Given the description of an element on the screen output the (x, y) to click on. 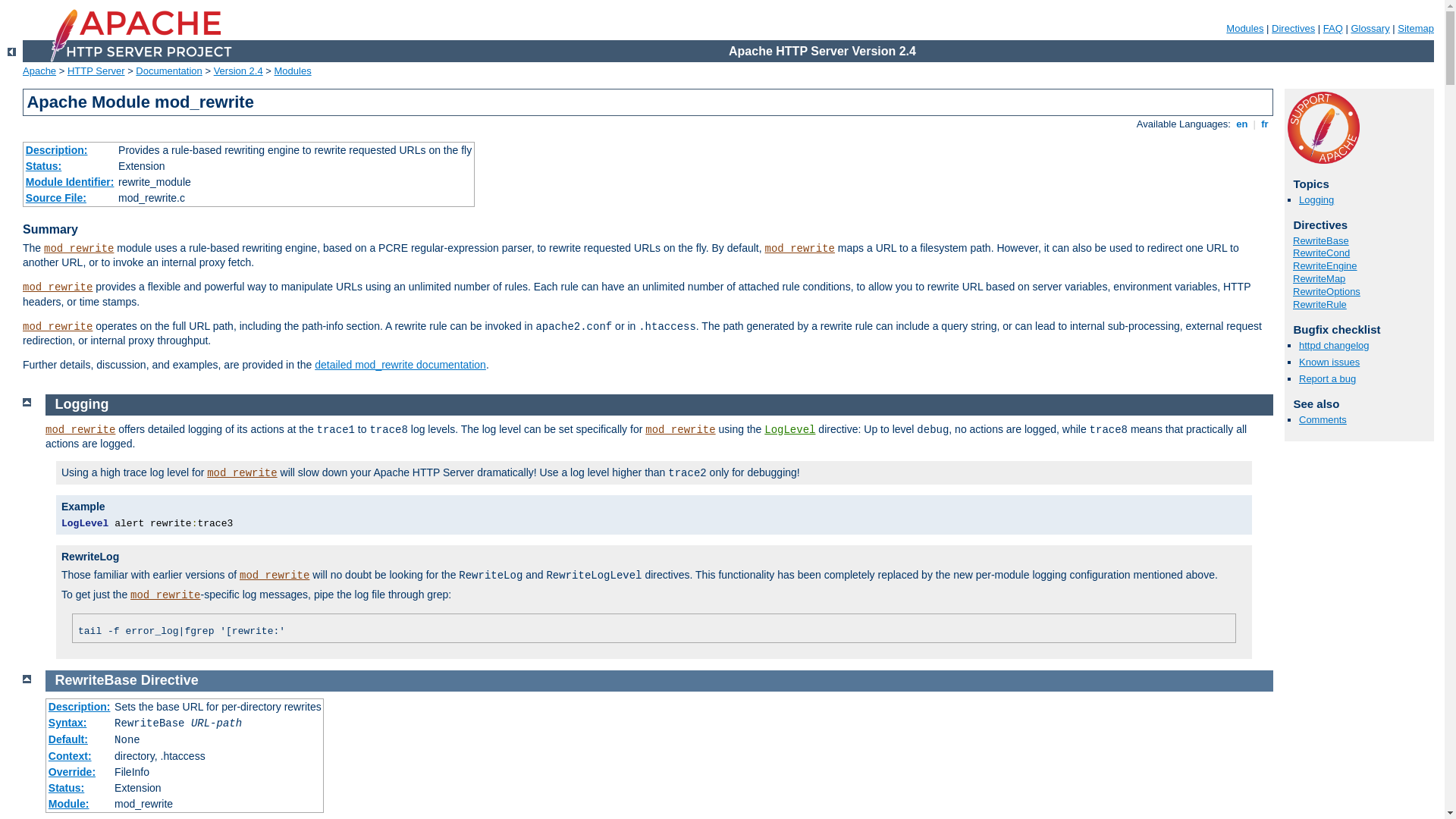
detailed mod_rewrite documentation Element type: text (400, 364)
mod_rewrite Element type: text (799, 248)
Context: Element type: text (69, 755)
mod_rewrite Element type: text (165, 595)
mod_rewrite Element type: text (680, 429)
 fr  Element type: text (1264, 123)
Report a bug Element type: text (1327, 378)
mod_rewrite Element type: text (80, 429)
RewriteOptions Element type: text (1326, 291)
Status: Element type: text (43, 166)
httpd changelog Element type: text (1334, 345)
RewriteEngine Element type: text (1324, 265)
mod_rewrite Element type: text (241, 473)
Directives Element type: text (1292, 28)
mod_rewrite Element type: text (274, 575)
RewriteMap Element type: text (1318, 278)
Description: Element type: text (79, 706)
RewriteBase Element type: text (1320, 240)
 en  Element type: text (1241, 123)
Modules Element type: text (292, 70)
Documentation Element type: text (168, 70)
LogLevel Element type: text (789, 429)
Module: Element type: text (68, 803)
Status: Element type: text (66, 787)
HTTP Server Element type: text (96, 70)
Source File: Element type: text (55, 197)
RewriteBase Element type: text (96, 679)
Directive Element type: text (169, 679)
Module Identifier: Element type: text (69, 181)
Logging Element type: text (1316, 199)
Default: Element type: text (67, 739)
Glossary Element type: text (1369, 28)
Modules Element type: text (1244, 28)
mod_rewrite Element type: text (78, 248)
Comments Element type: text (1322, 419)
Override: Element type: text (71, 771)
Sitemap Element type: text (1415, 28)
mod_rewrite Element type: text (57, 326)
Version 2.4 Element type: text (238, 70)
RewriteRule Element type: text (1319, 304)
FAQ Element type: text (1333, 28)
Description: Element type: text (56, 150)
<- Element type: hover (11, 51)
Known issues Element type: text (1329, 361)
Logging Element type: text (82, 403)
RewriteCond Element type: text (1320, 252)
Syntax: Element type: text (67, 722)
mod_rewrite Element type: text (57, 287)
Apache Element type: text (39, 70)
